Given the description of an element on the screen output the (x, y) to click on. 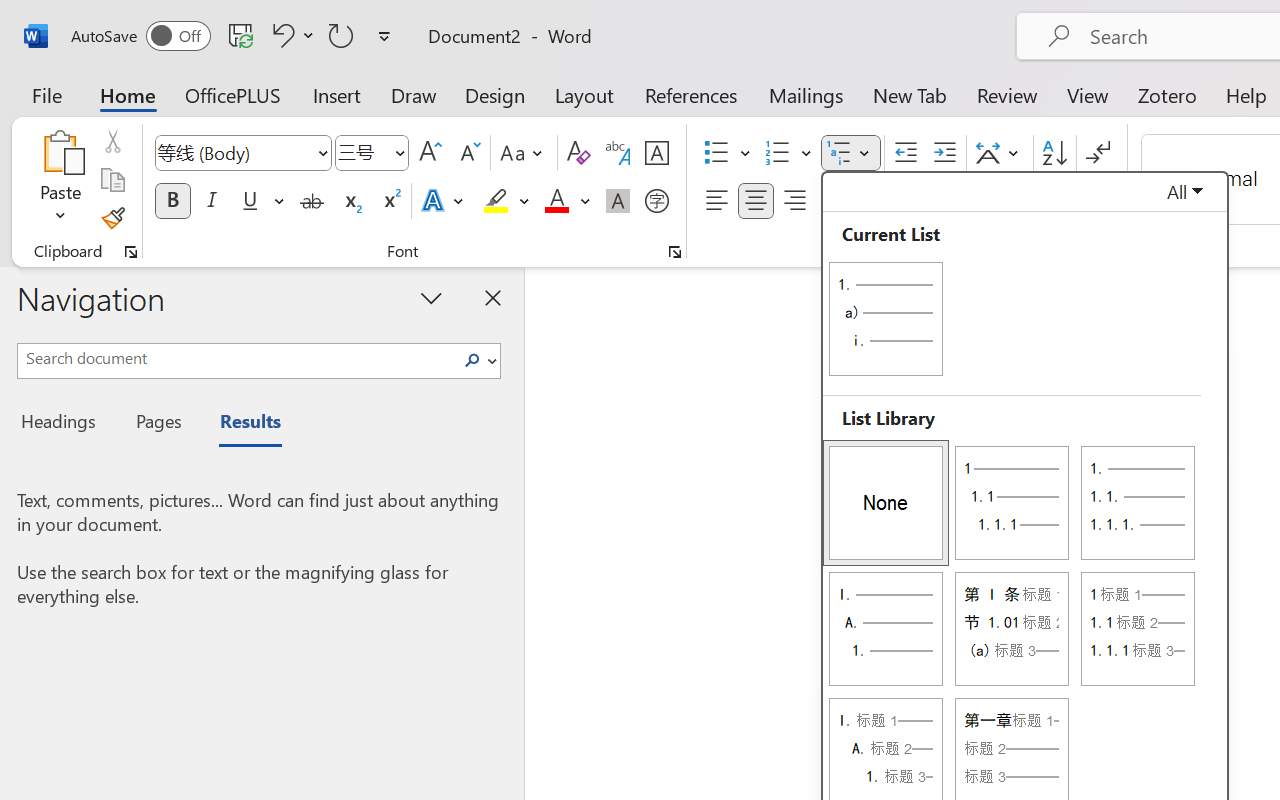
windows_crawler actions (255, 89)
Go Back (Alt+LeftArrow) (960, 18)
